Given the description of an element on the screen output the (x, y) to click on. 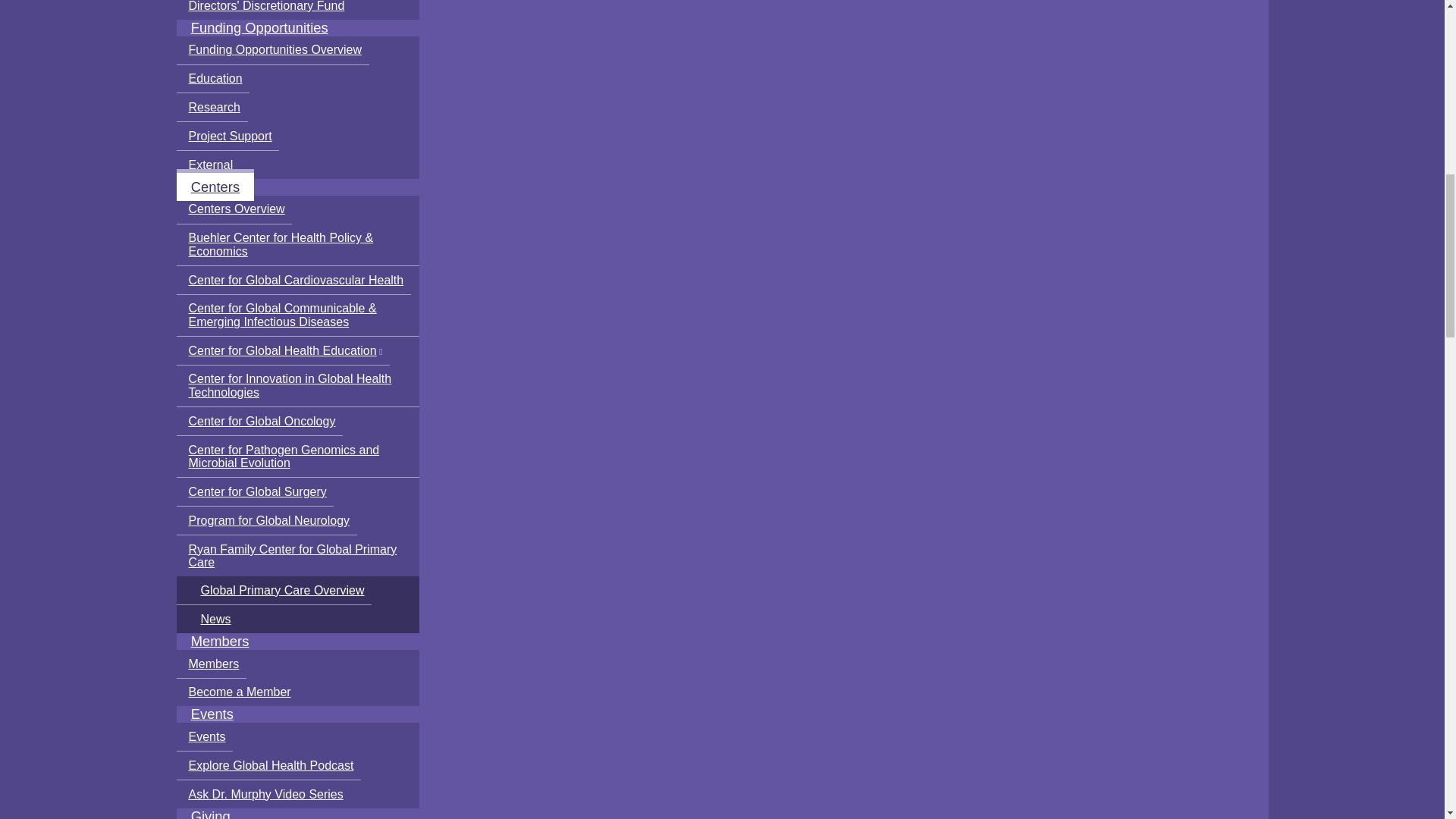
Project Support (227, 136)
Research (211, 107)
Education (212, 79)
Funding Opportunities (259, 27)
External (208, 164)
Directors' Discretionary Fund (263, 9)
Funding Opportunities Overview (272, 50)
